Given the description of an element on the screen output the (x, y) to click on. 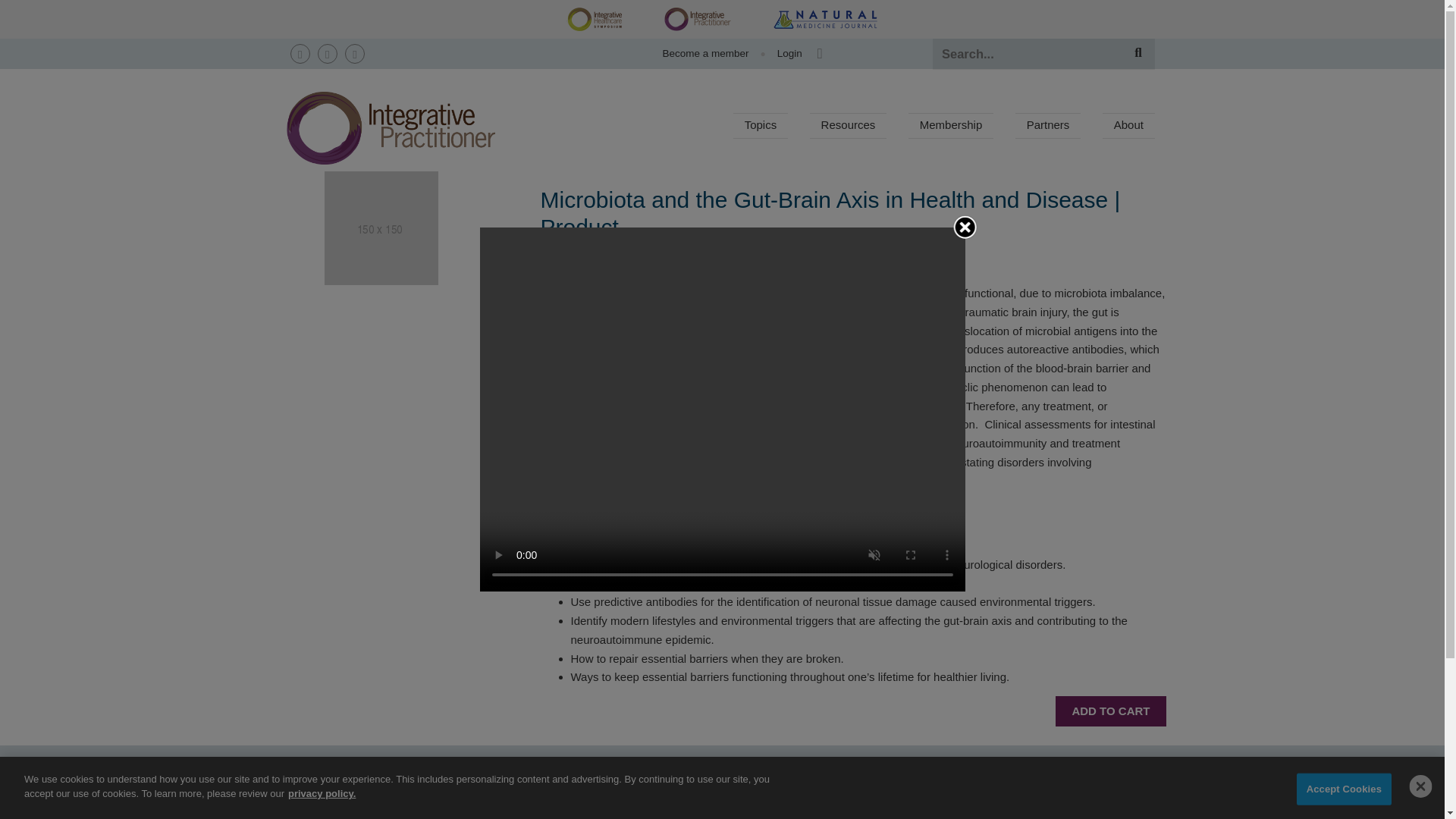
Membership (950, 125)
Topics (760, 125)
Resources (847, 125)
Login (783, 52)
About (1128, 125)
Become a member (705, 52)
Partners (1047, 125)
